Given the description of an element on the screen output the (x, y) to click on. 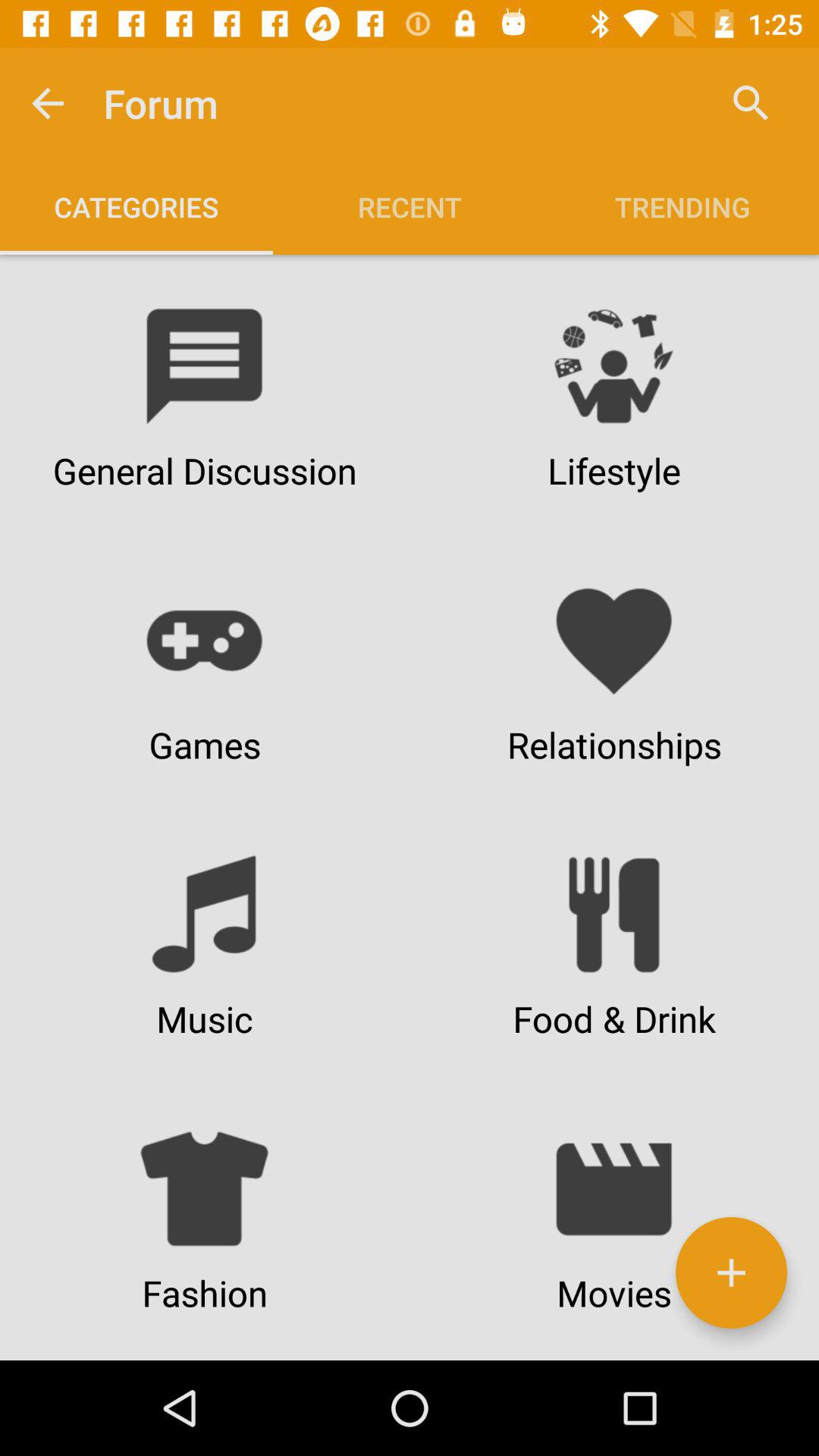
add a new category (731, 1272)
